Given the description of an element on the screen output the (x, y) to click on. 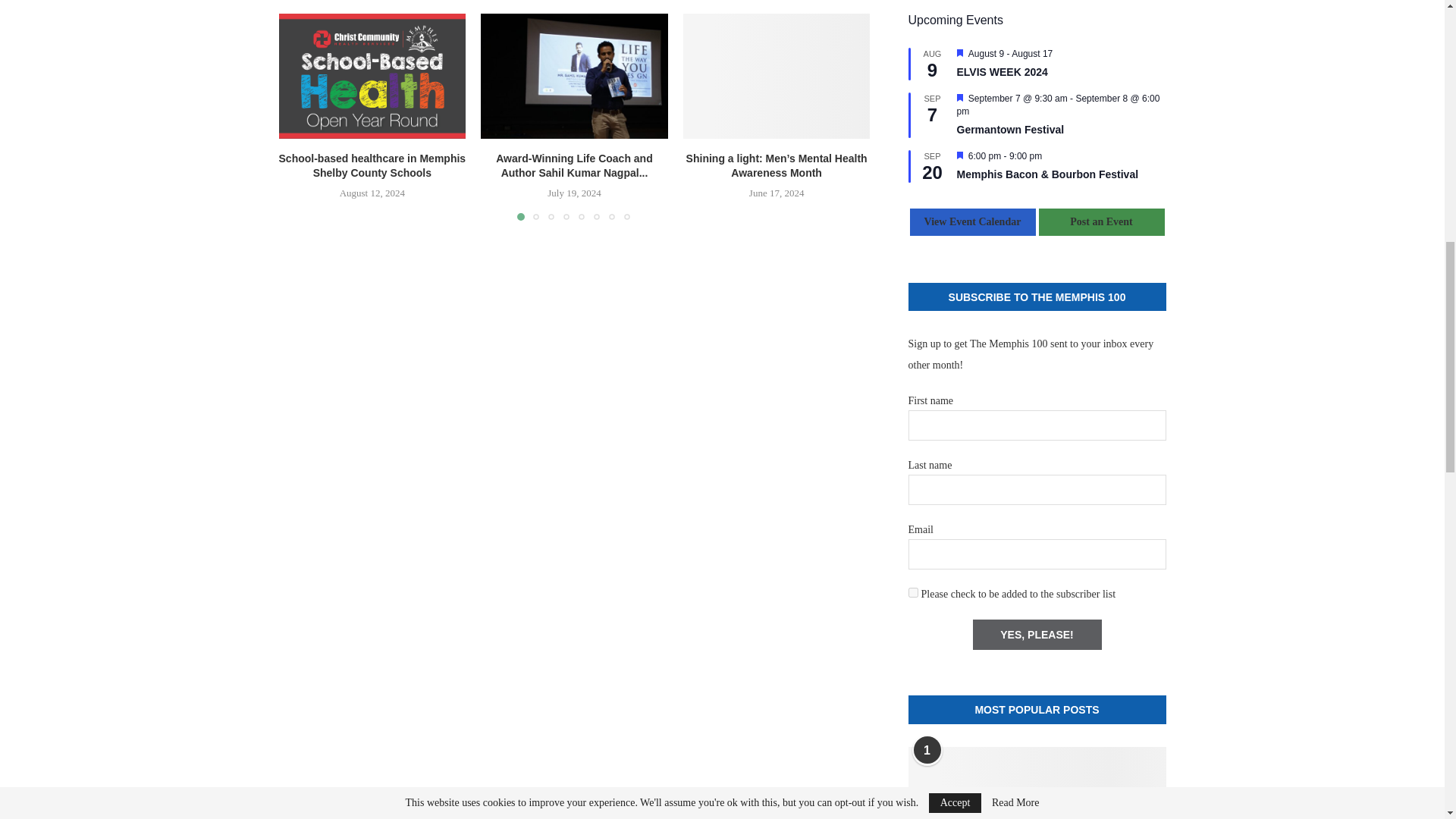
1 (913, 592)
YES, PLEASE! (1036, 634)
School-based healthcare in Memphis Shelby County Schools (372, 75)
